Given the description of an element on the screen output the (x, y) to click on. 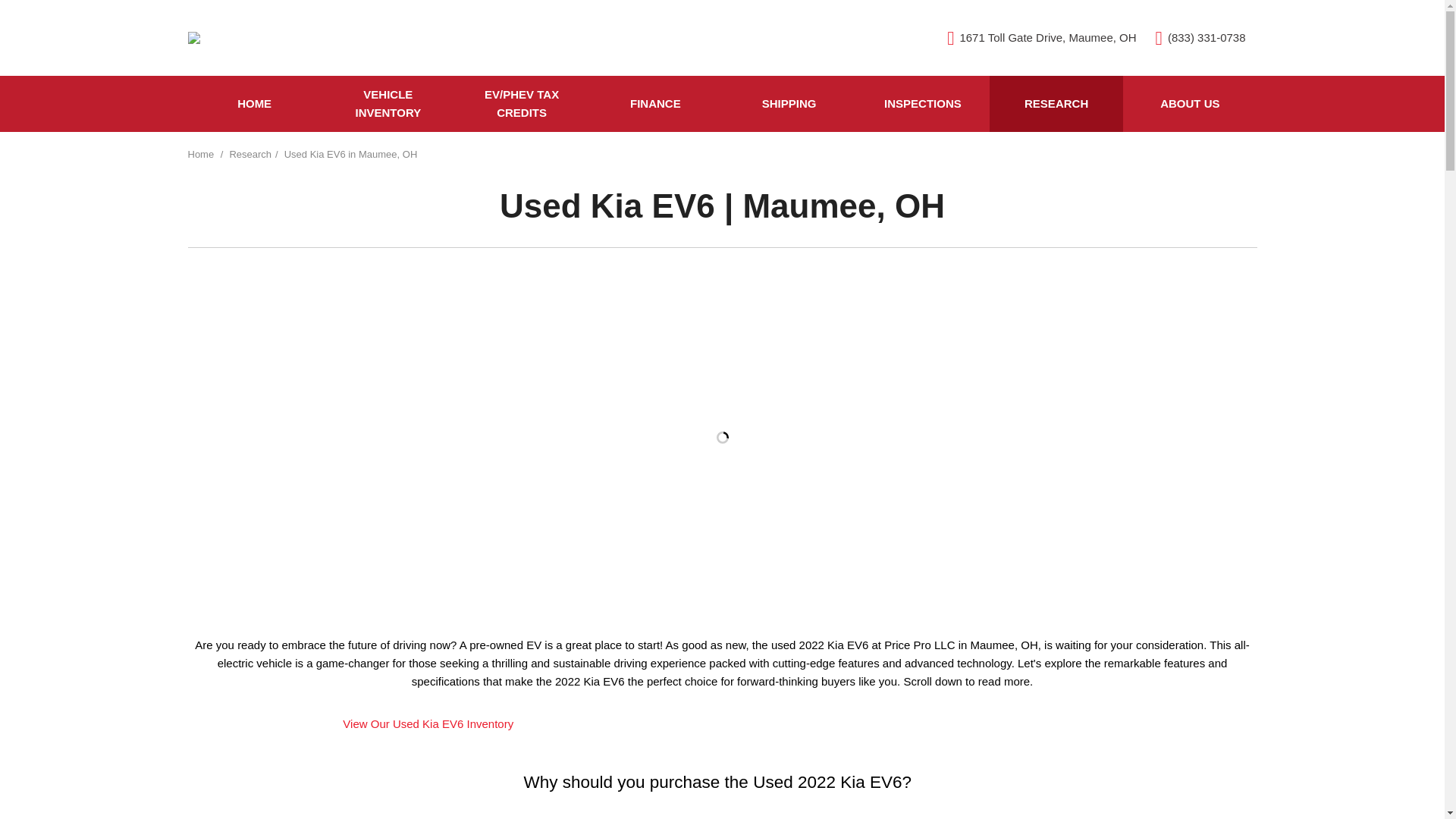
Price Pro LLC (193, 37)
HOME (254, 103)
VEHICLE INVENTORY (387, 103)
SHIPPING (789, 103)
FINANCE (655, 103)
INSPECTIONS (923, 103)
1671 Toll Gate Drive, Maumee, OH (1041, 37)
